Given the description of an element on the screen output the (x, y) to click on. 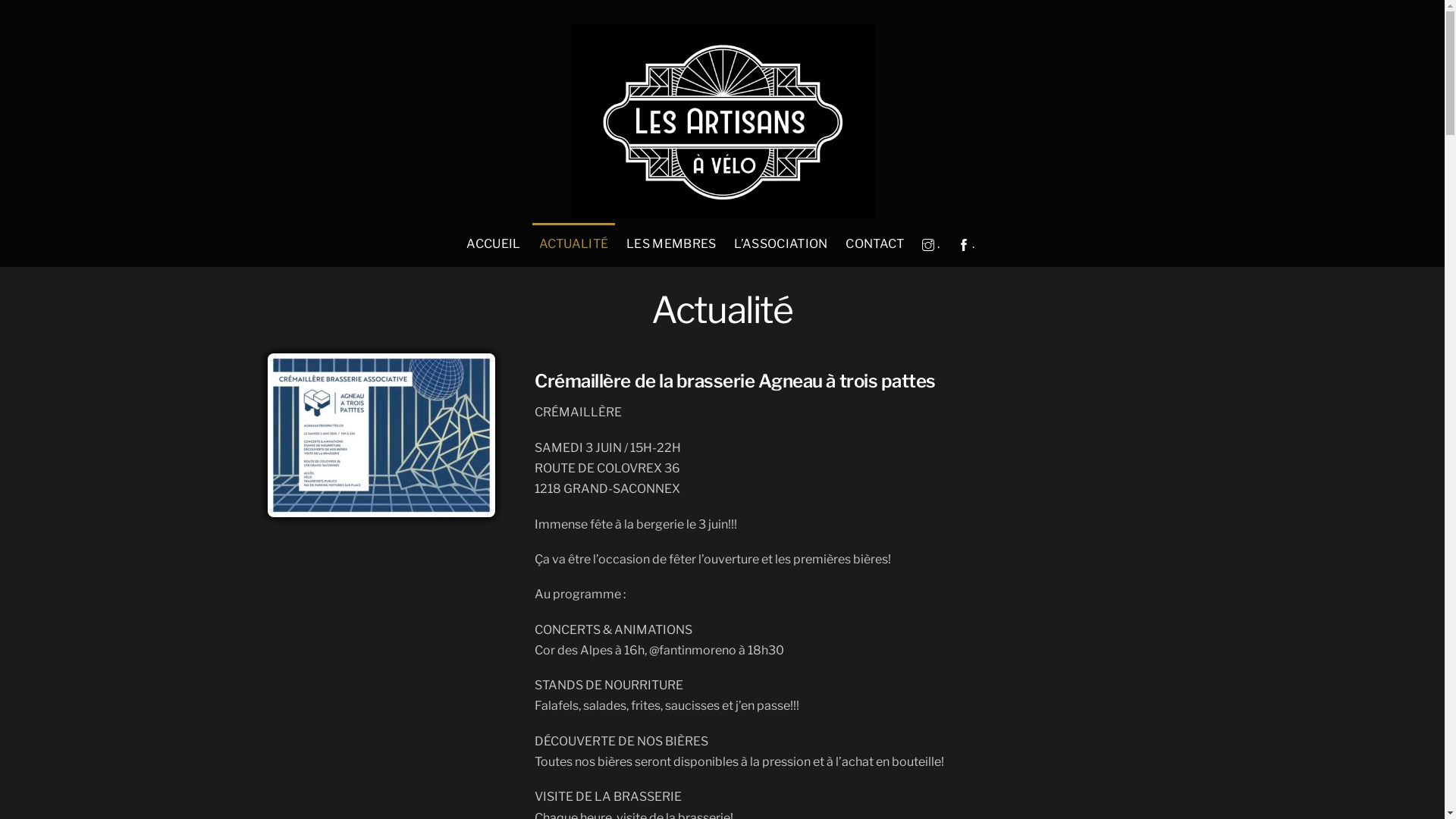
CONTACT Element type: text (874, 244)
. Element type: text (930, 244)
ACCUEIL Element type: text (493, 244)
vraiLogo Element type: hover (721, 121)
. Element type: text (965, 244)
LES MEMBRES Element type: text (671, 244)
